Given the description of an element on the screen output the (x, y) to click on. 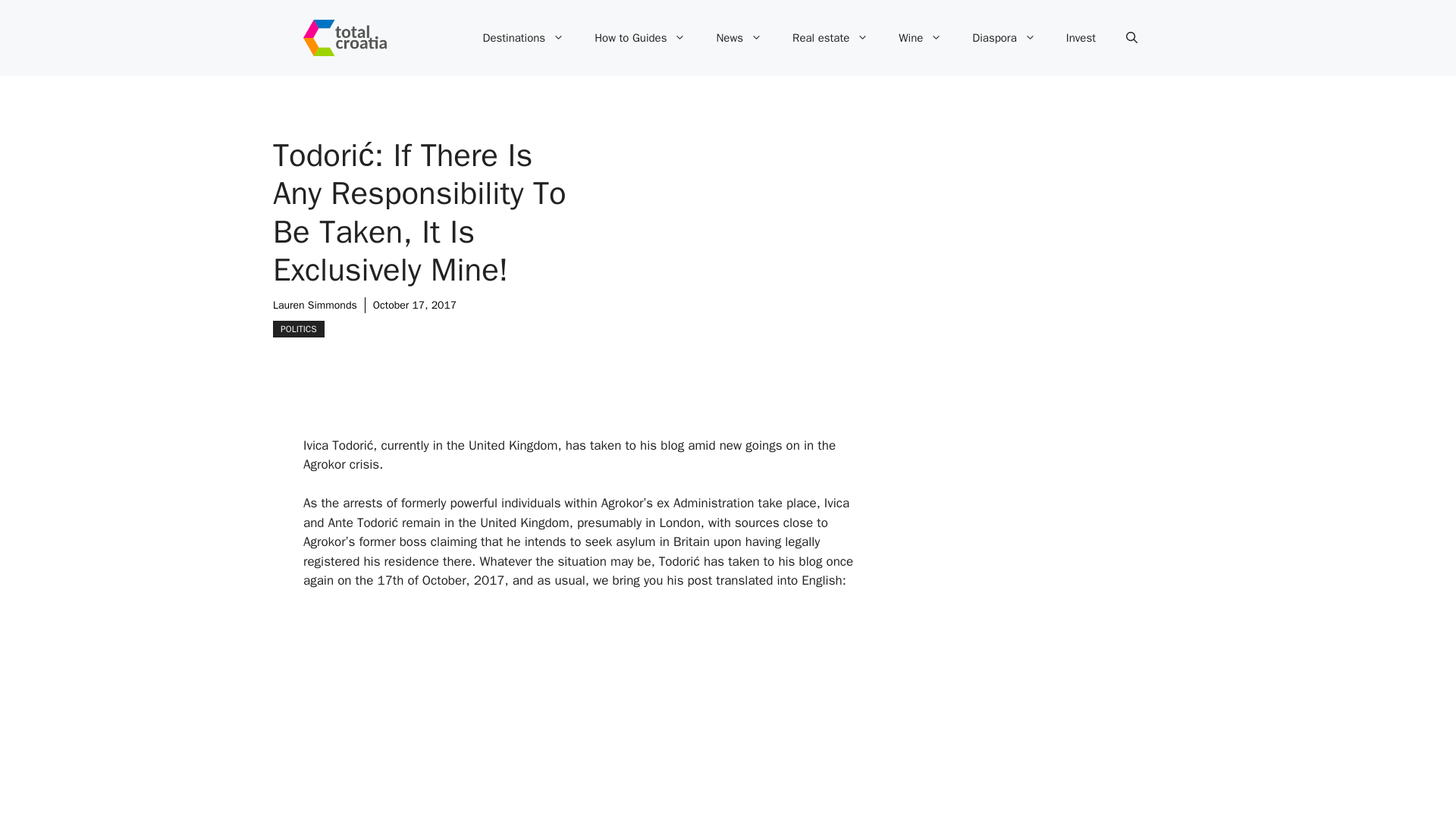
News (738, 37)
Wine (919, 37)
Diaspora (1002, 37)
Real estate (830, 37)
Invest (1080, 37)
How to Guides (639, 37)
Destinations (523, 37)
